Given the description of an element on the screen output the (x, y) to click on. 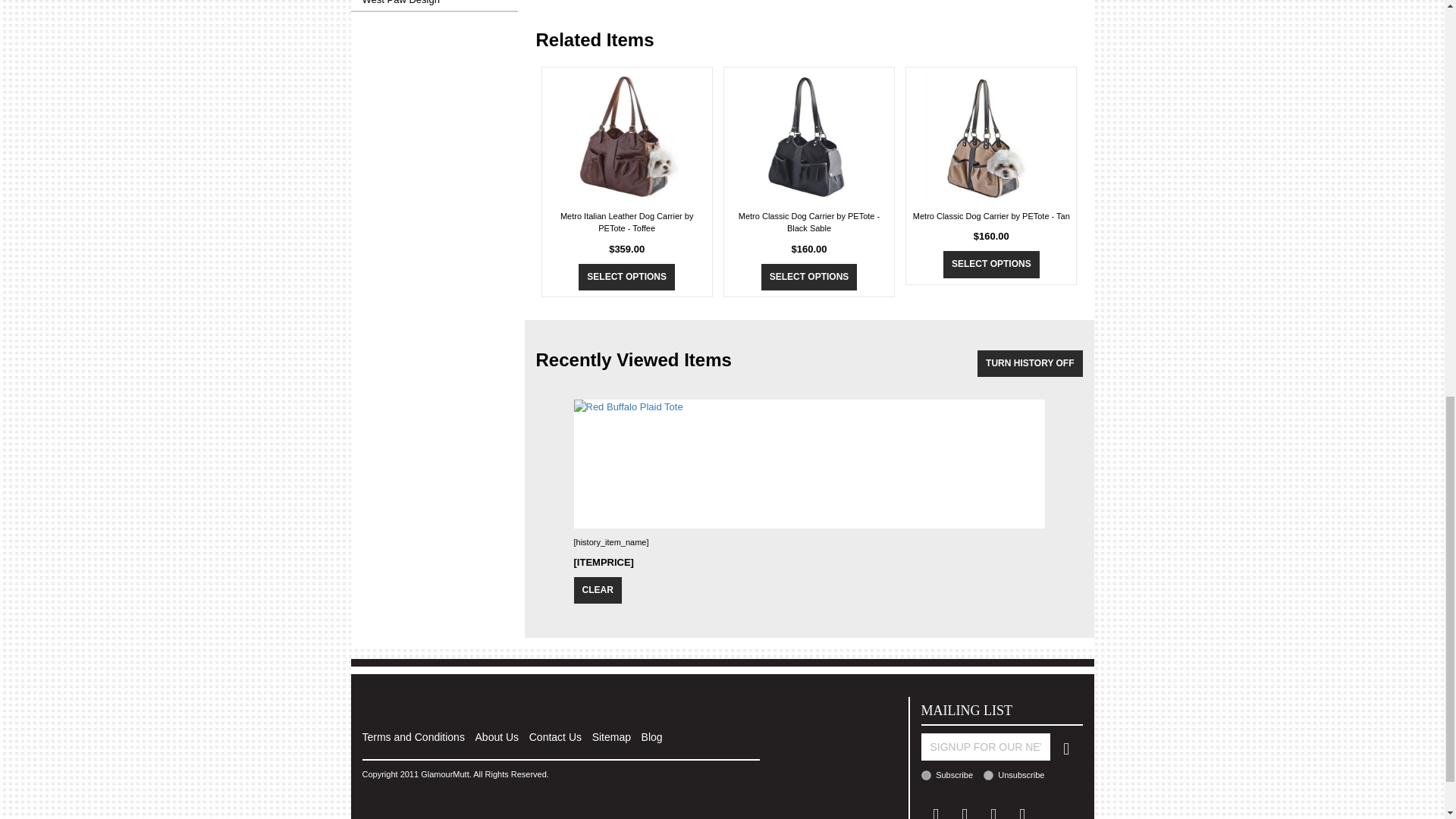
Follow Us on Pinterest (964, 809)
0 (988, 775)
Follow Us on Twitter (993, 809)
Follow Us on Instagram (1022, 809)
Like Us on Facebook (935, 809)
West Paw Design (433, 5)
1 (925, 775)
